Given the description of an element on the screen output the (x, y) to click on. 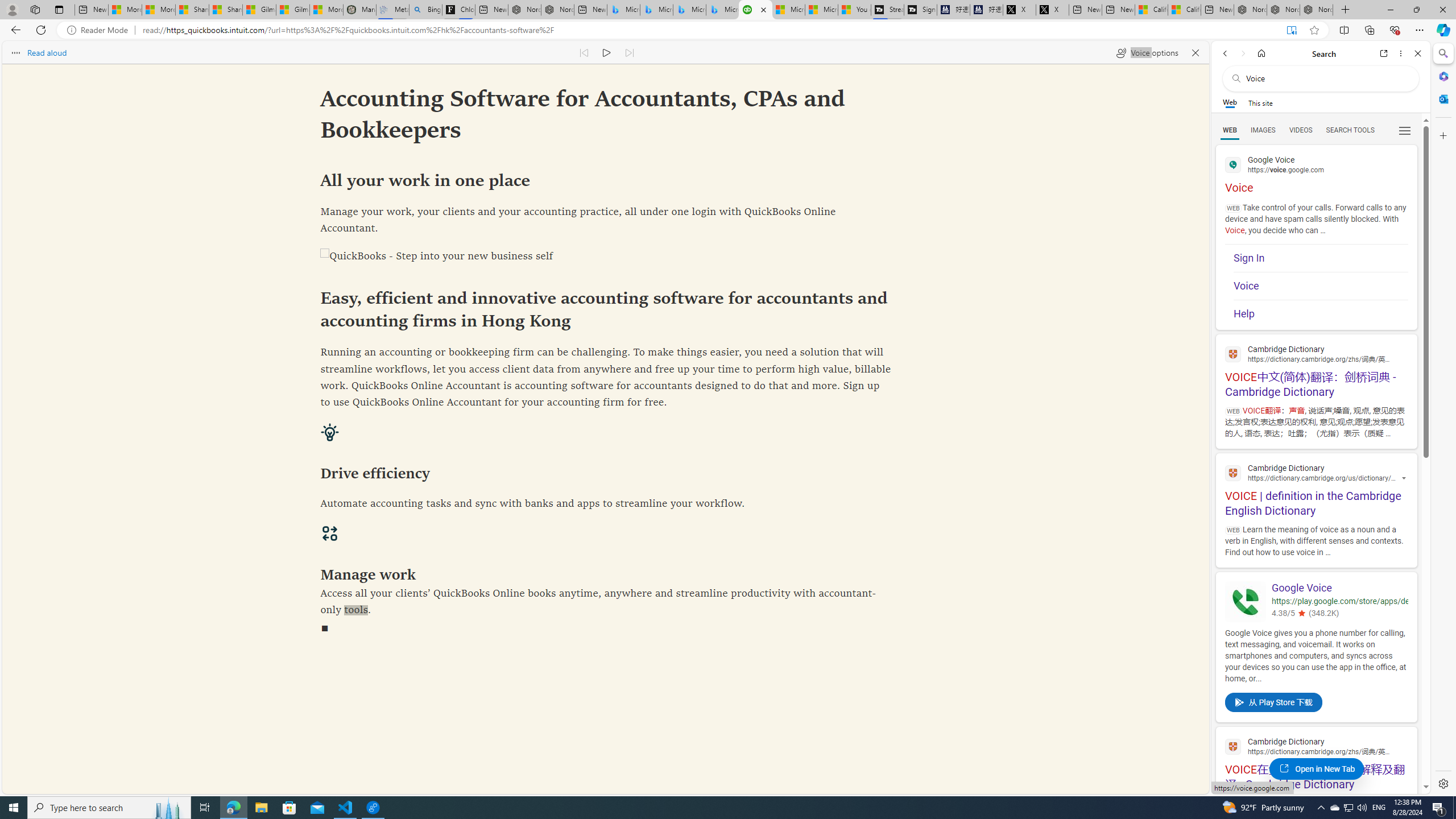
Search Filter, WEB (1230, 129)
Voice (1320, 286)
Nordace Siena Pro 15 Backpack (1283, 9)
VOICE | definition in the Cambridge English Dictionary (1315, 488)
Side bar (1443, 418)
Sign In (1320, 258)
